Given the description of an element on the screen output the (x, y) to click on. 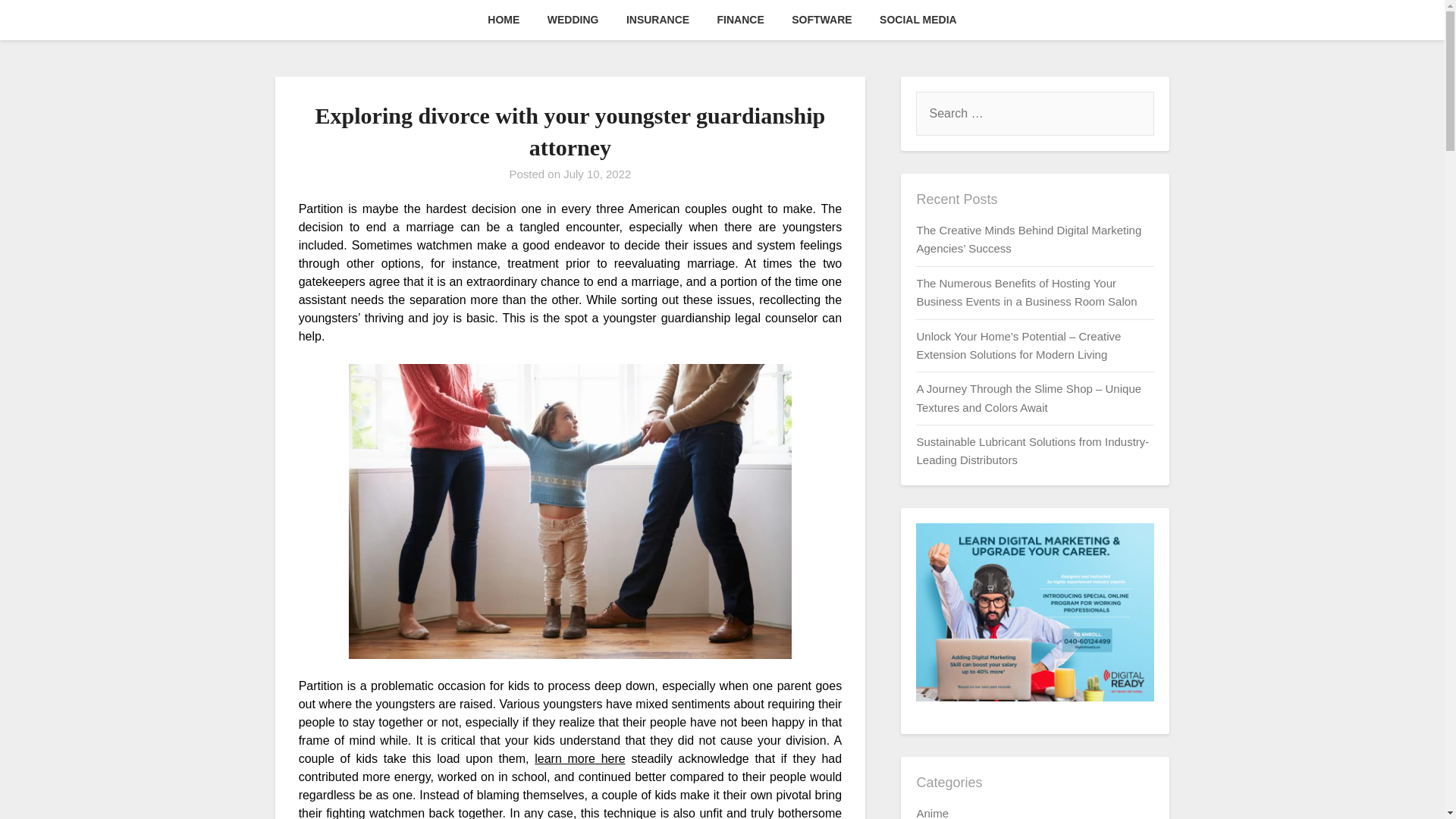
Search (37, 22)
HOME (503, 20)
FINANCE (740, 20)
SOFTWARE (820, 20)
July 10, 2022 (596, 173)
WEDDING (573, 20)
INSURANCE (657, 20)
SOCIAL MEDIA (918, 20)
Anime (932, 812)
learn more here (579, 758)
